Given the description of an element on the screen output the (x, y) to click on. 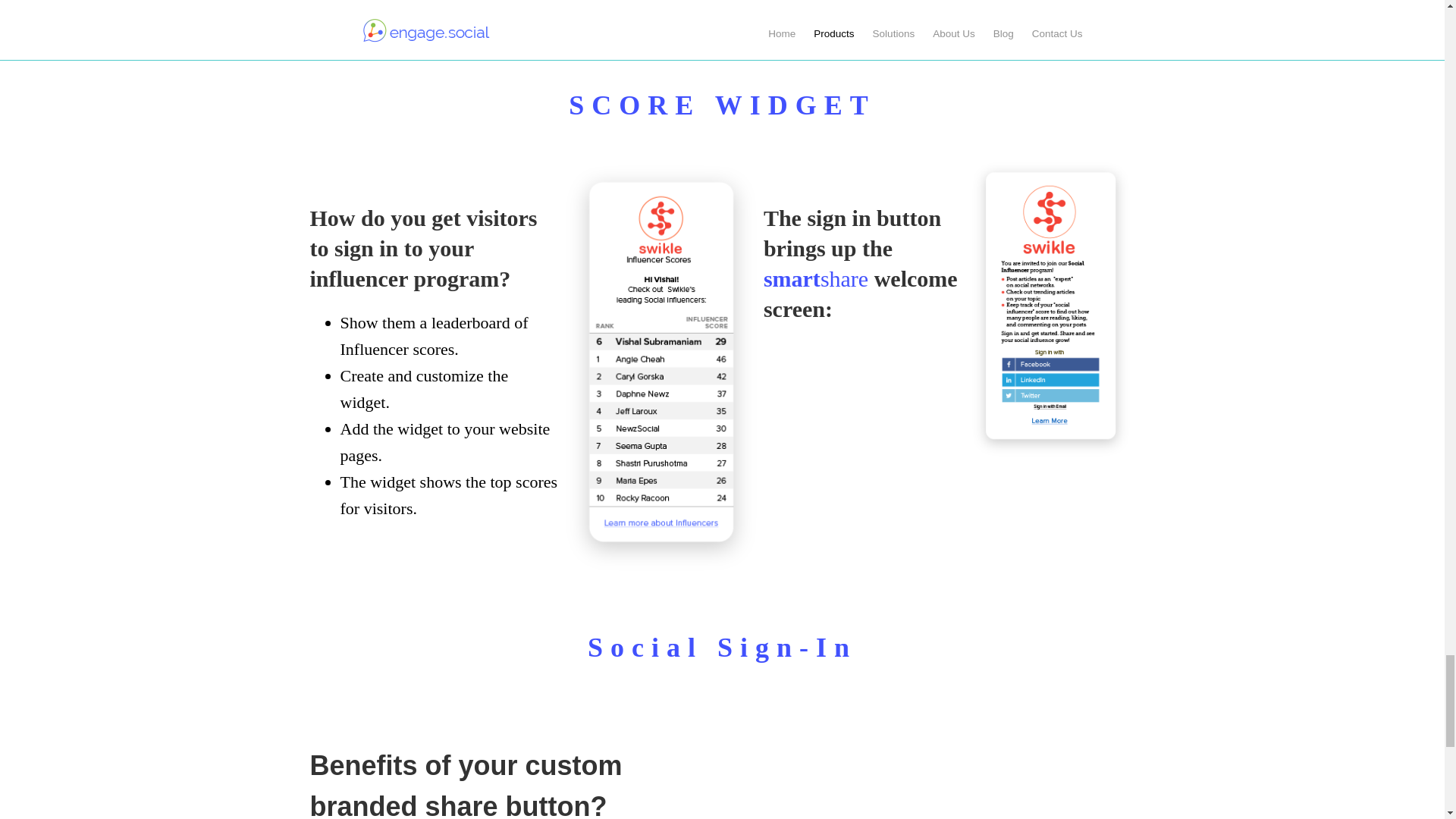
smartshare (814, 278)
